Given the description of an element on the screen output the (x, y) to click on. 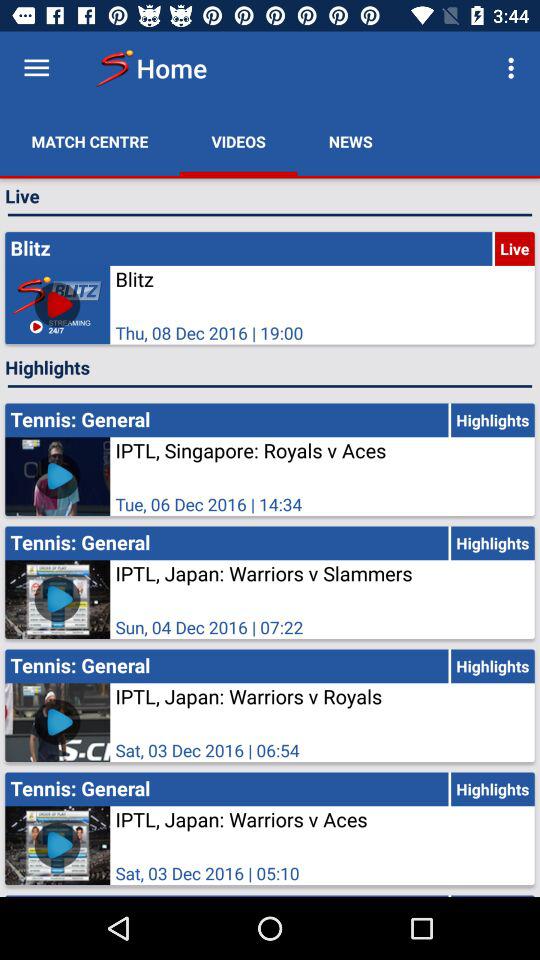
select item next to the news icon (238, 141)
